Given the description of an element on the screen output the (x, y) to click on. 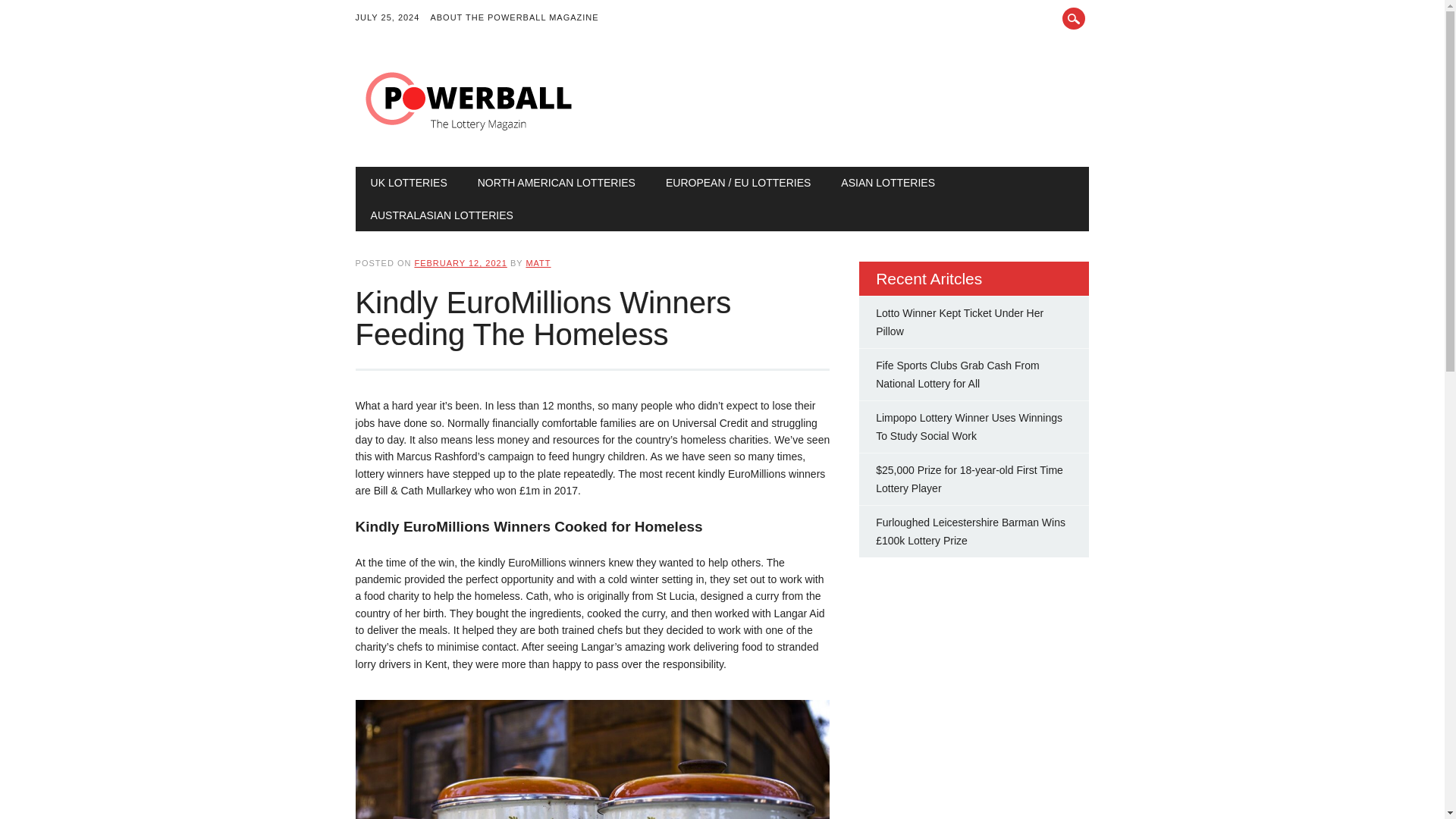
NORTH AMERICAN LOTTERIES (556, 183)
View all posts by Matt (537, 262)
Powerball (469, 135)
Limpopo Lottery Winner Uses Winnings To Study Social Work (969, 426)
Lotto Winner Kept Ticket Under Her Pillow (959, 322)
AUSTRALASIAN LOTTERIES (441, 214)
FEBRUARY 12, 2021 (459, 262)
MATT (537, 262)
11:53 am (459, 262)
ASIAN LOTTERIES (887, 183)
ABOUT THE POWERBALL MAGAZINE (519, 17)
UK LOTTERIES (409, 183)
Fife Sports Clubs Grab Cash From National Lottery for All (957, 374)
